Given the description of an element on the screen output the (x, y) to click on. 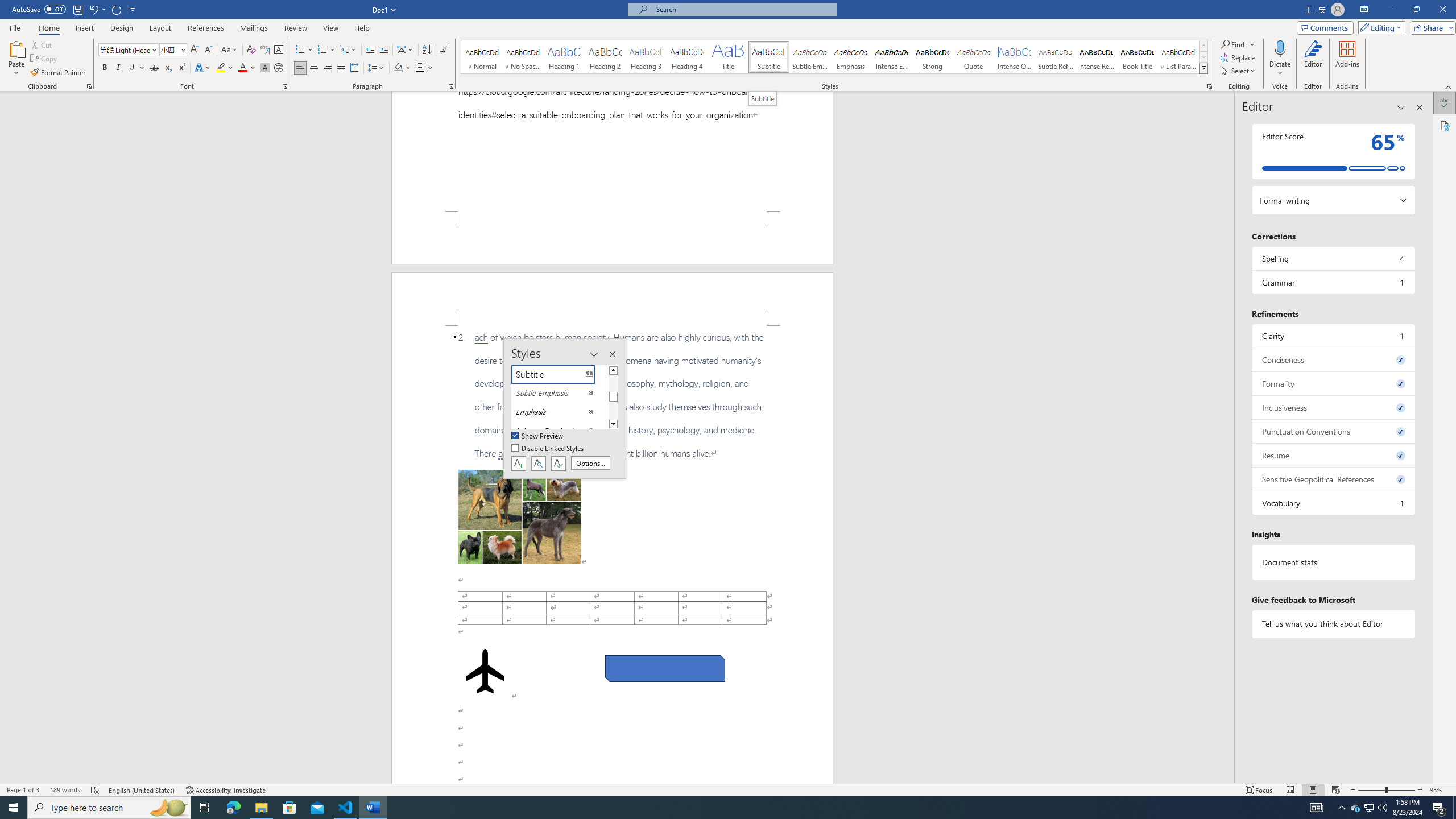
Home (48, 28)
Font Color (246, 67)
Subtle Emphasis (809, 56)
Class: NetUIImage (1204, 68)
Task Pane Options (1400, 107)
View (330, 28)
Paste (16, 58)
Font (128, 49)
Accessibility (1444, 125)
Class: MsoCommandBar (728, 789)
